Given the description of an element on the screen output the (x, y) to click on. 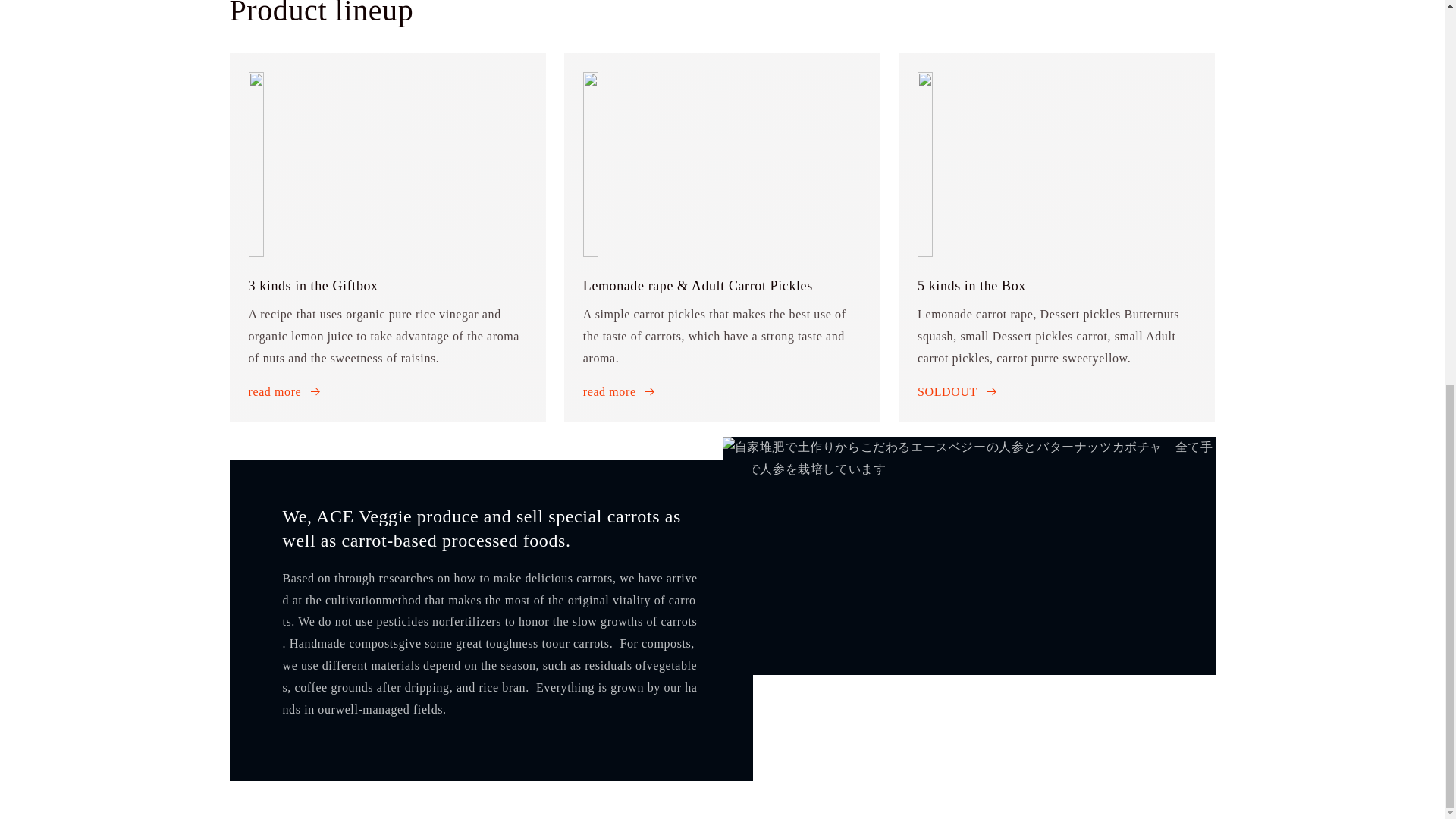
SOLDOUT  (957, 392)
read more  (284, 392)
read more  (619, 392)
